Given the description of an element on the screen output the (x, y) to click on. 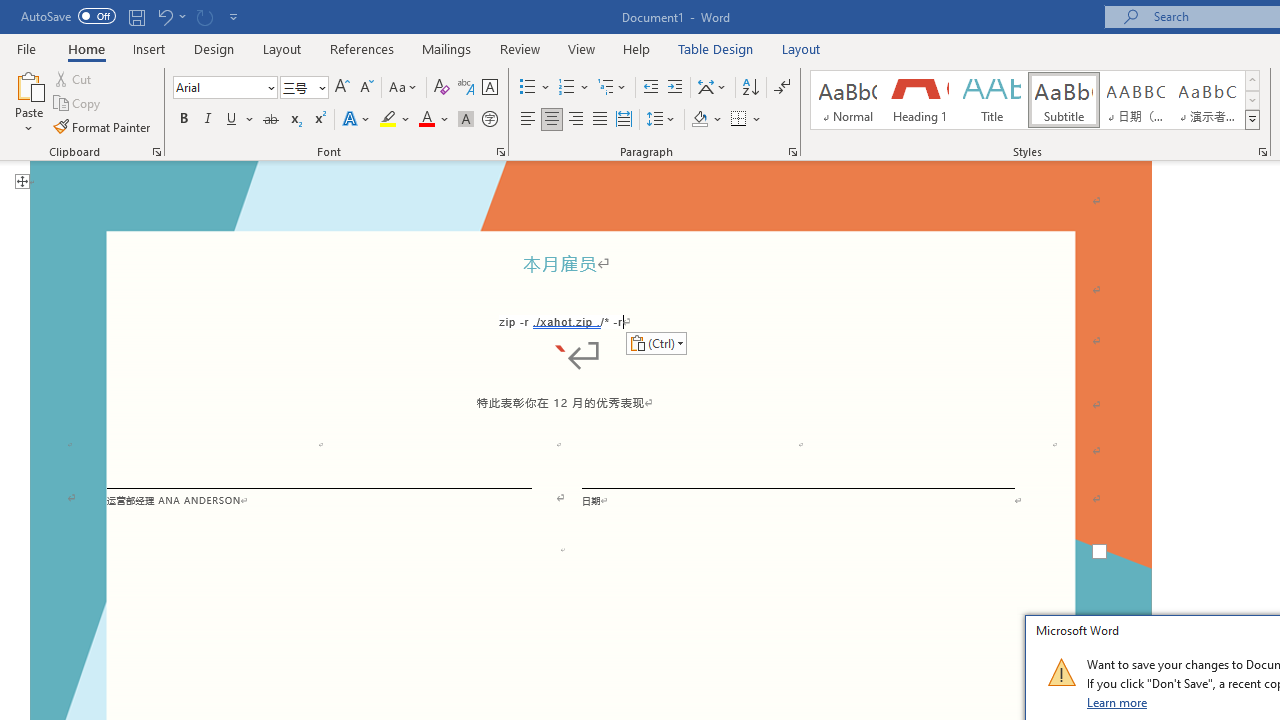
AutomationID: QuickStylesGallery (1035, 99)
Title (991, 100)
